Given the description of an element on the screen output the (x, y) to click on. 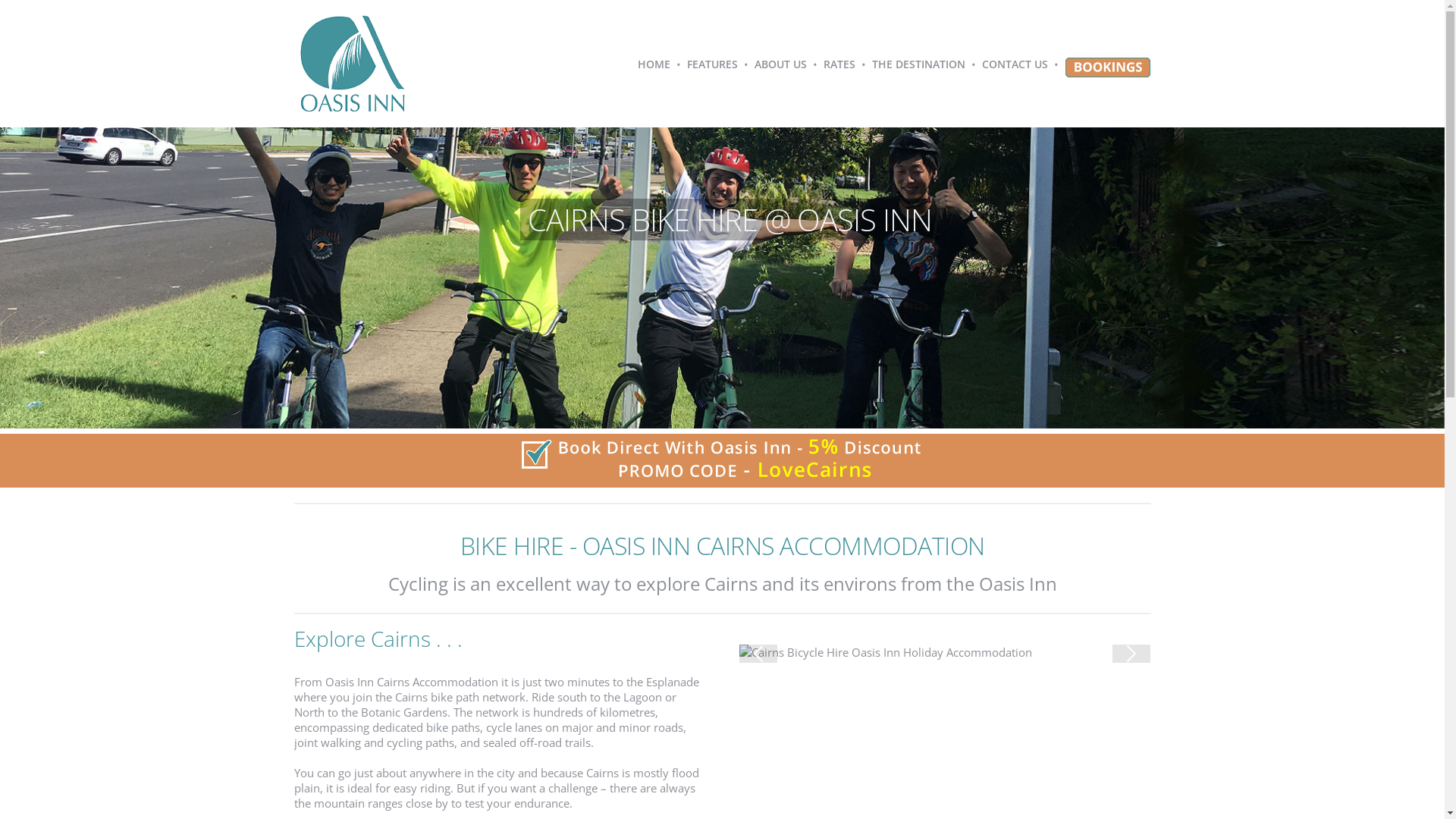
FEATURES Element type: text (711, 64)
Next Element type: text (1131, 653)
RATES Element type: text (839, 64)
CONTACT US Element type: text (1014, 64)
Previous Element type: text (758, 653)
Oasis Inn Element type: text (912, 424)
ABOUT US Element type: text (779, 64)
HOME Element type: text (652, 64)
THE DESTINATION Element type: text (918, 64)
p: (07) 4051 8111 Element type: text (341, 494)
e: stay@oasisinn.com.au Element type: text (364, 519)
